Given the description of an element on the screen output the (x, y) to click on. 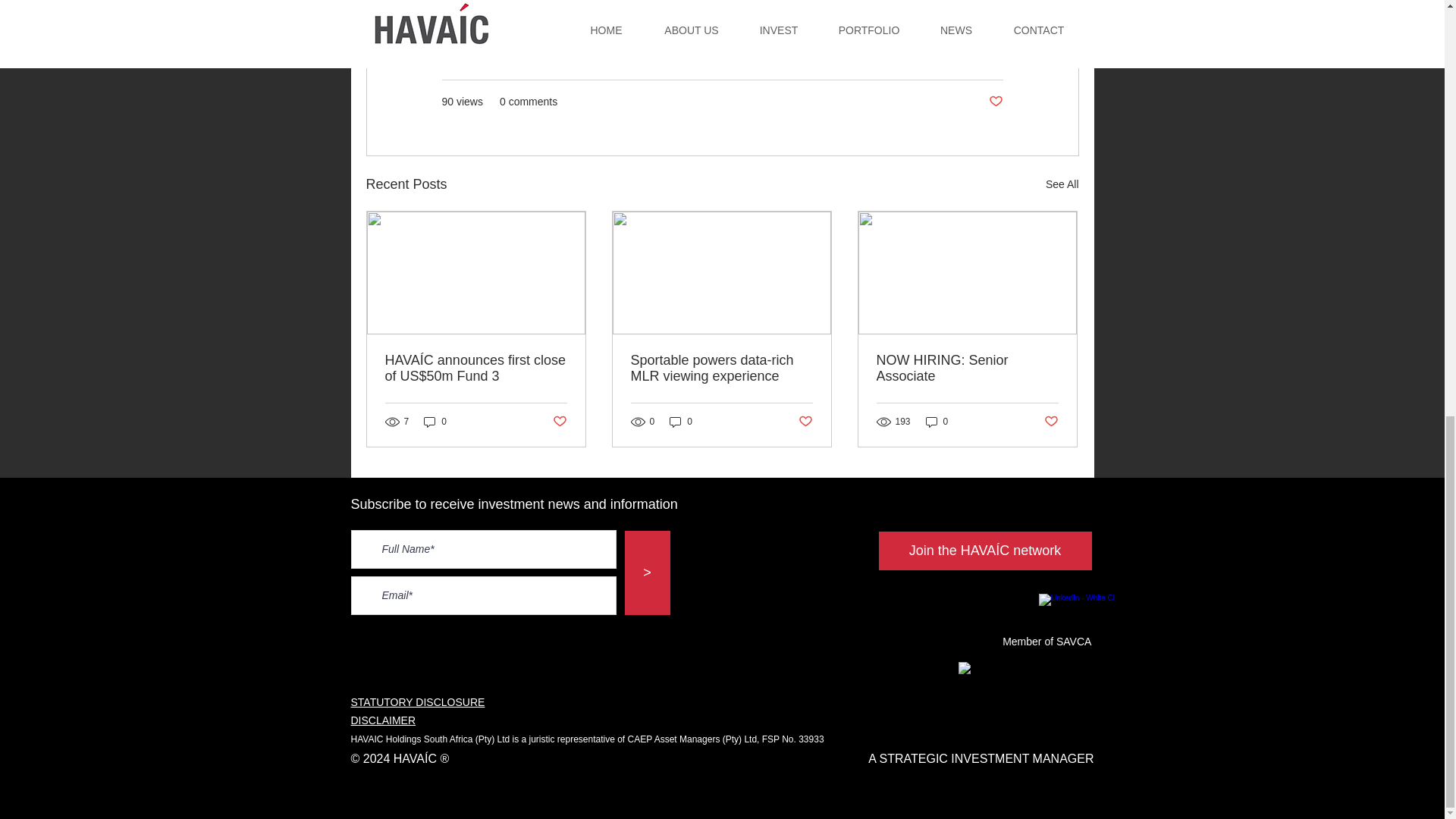
Sportable powers data-rich MLR viewing experience (721, 368)
Post not marked as liked (558, 421)
See All (1061, 184)
0 (435, 421)
Post not marked as liked (995, 101)
0 (681, 421)
Post not marked as liked (804, 421)
